Given the description of an element on the screen output the (x, y) to click on. 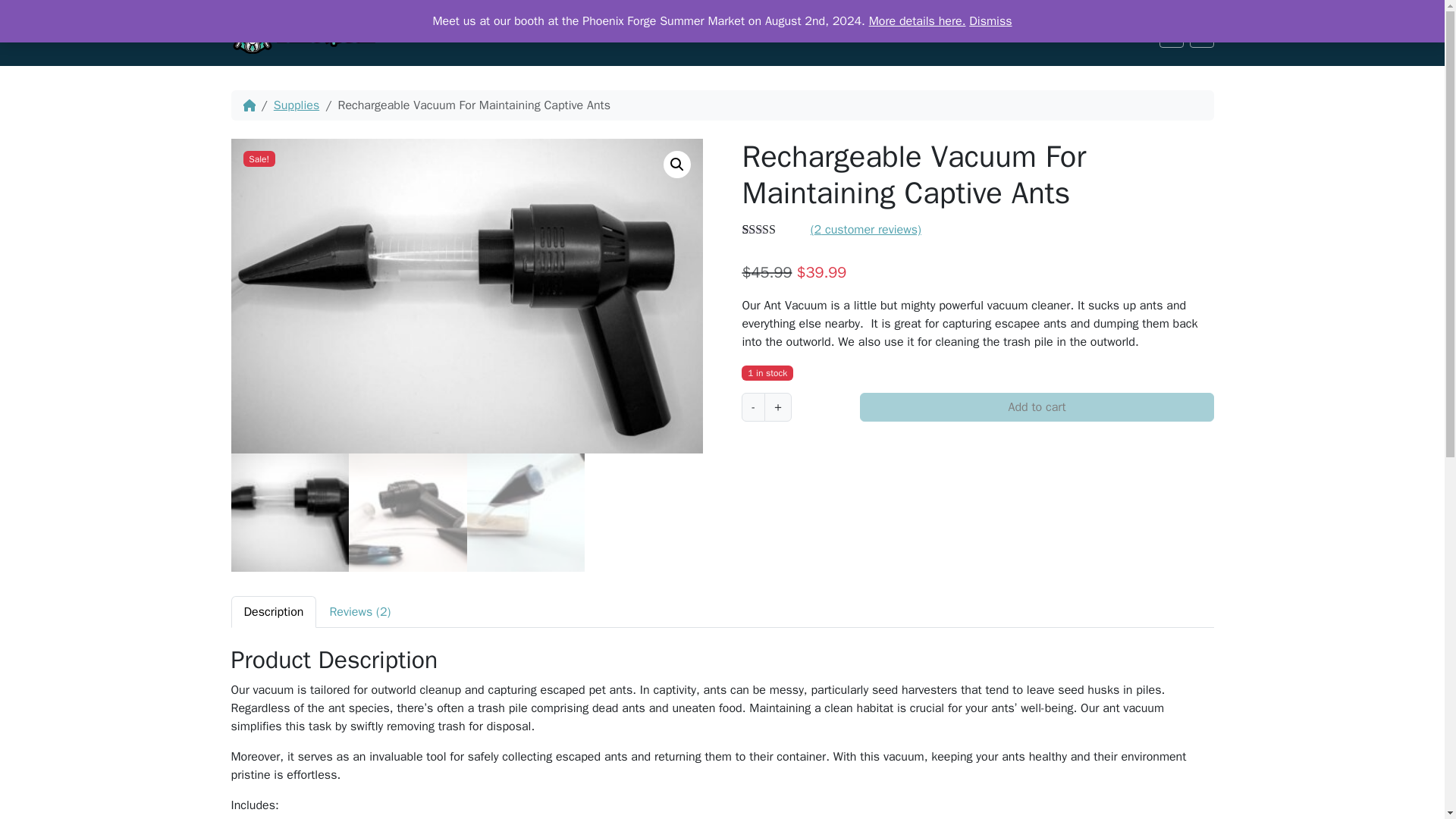
About (1127, 33)
Policies (1070, 33)
Supplies (295, 105)
Description (272, 612)
Ants (834, 33)
Permits (1013, 33)
Formicaria (886, 33)
Add to cart (1036, 407)
Supplies (953, 33)
